Given the description of an element on the screen output the (x, y) to click on. 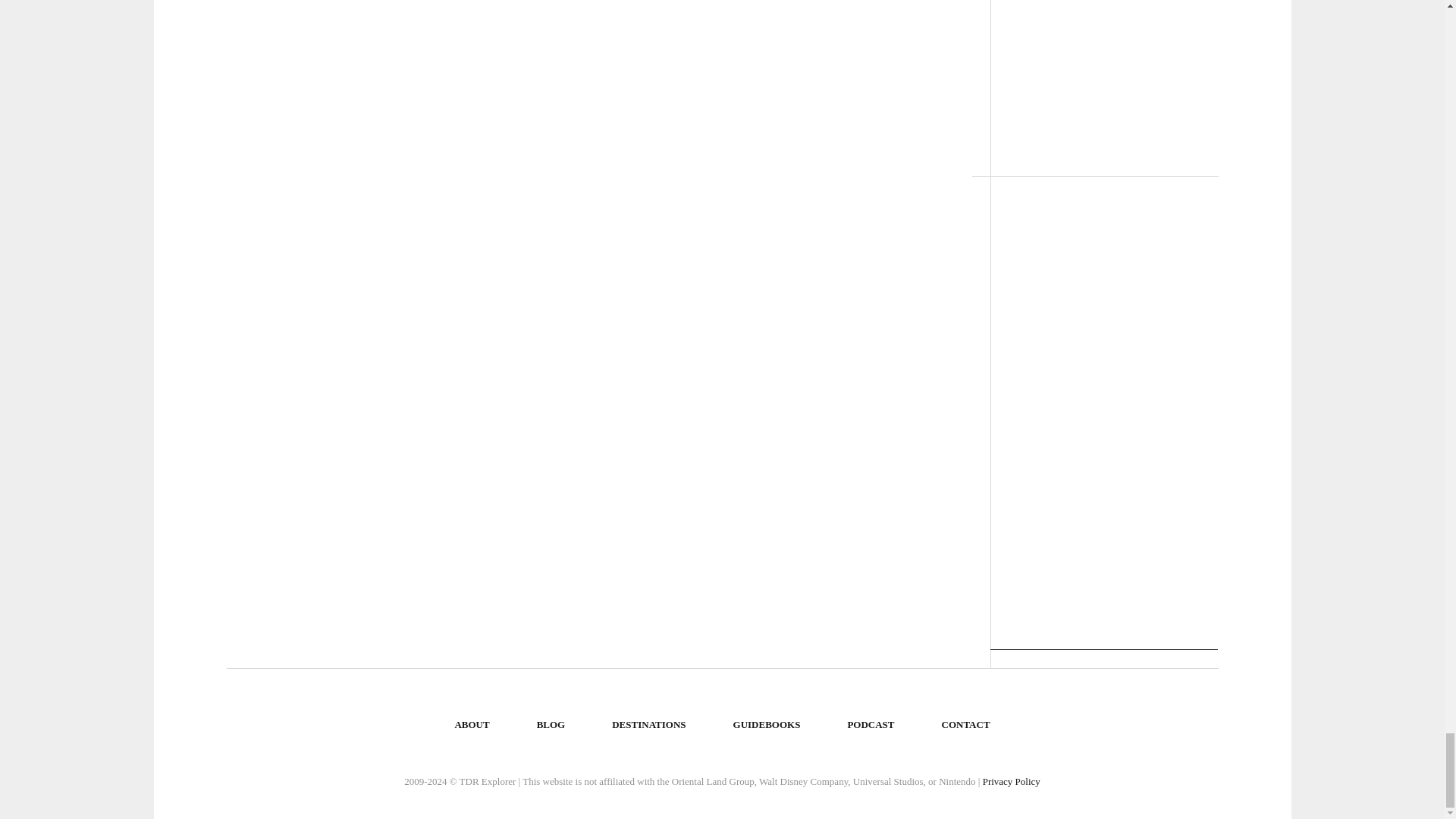
Where do you want to travel? (648, 724)
DESTINATIONS (648, 724)
GUIDEBOOKS (766, 724)
PODCAST (869, 724)
CONTACT (966, 724)
BLOG (550, 724)
ABOUT (471, 724)
